Given the description of an element on the screen output the (x, y) to click on. 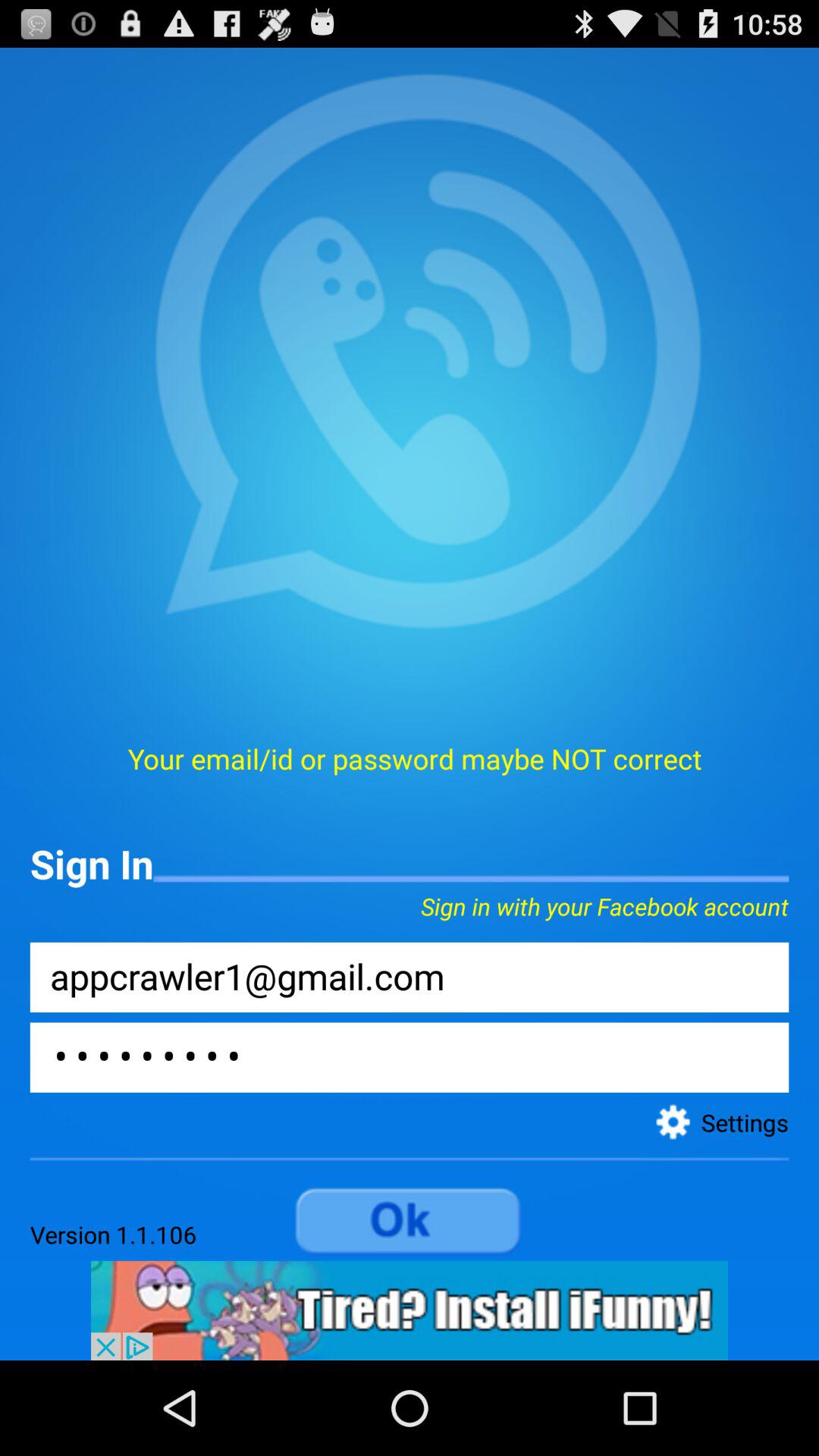
go to password (409, 1057)
